Given the description of an element on the screen output the (x, y) to click on. 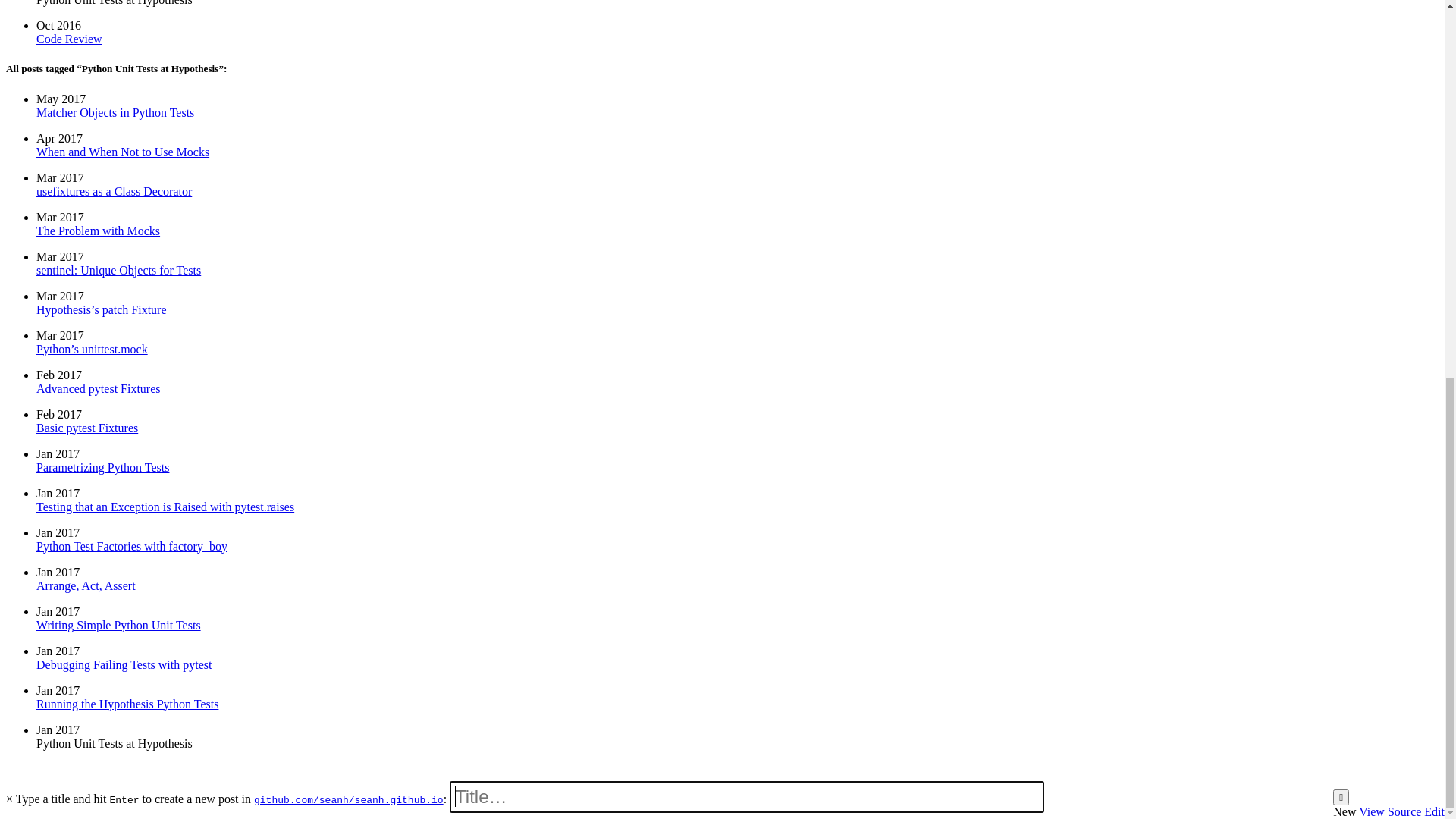
usefixtures as a Class Decorator Element type: text (113, 285)
Advanced pytest Fixtures Element type: text (98, 217)
The Problem with Mocks Element type: text (98, 272)
virtualenv Element type: text (658, 364)
Python Test Factories with factory_boy Element type: text (131, 162)
Python Element type: text (523, 364)
PDF Fingerprinting Element type: text (83, 660)
Writing Simple Python Unit Tests Element type: text (118, 135)
Hypothesis Element type: text (444, 82)
Code Review Element type: text (69, 739)
Basic pytest Fixtures Element type: text (87, 203)
Matcher Objects in Python Tests Element type: text (115, 313)
Debugging Failing Tests with pytest Element type: text (123, 122)
When and When Not to Use Mocks Element type: text (122, 299)
An Opinionated tox.ini File Element type: text (103, 581)
Testing that an Exception is Raised with pytest.raises Element type: text (165, 176)
Arrange, Act, Assert Element type: text (85, 149)
sentinel: Unique Objects for Tests Element type: text (118, 258)
Running the Hypothesis Python Tests Element type: text (127, 108)
Managing a Project's Virtualenvs with tox Element type: text (138, 621)
Sean Hammond Element type: text (45, 18)
Parametrizing Python Tests Element type: text (102, 190)
Python Web App Code Design at Hypothesis Element type: text (145, 542)
test method arguments that seem to come from nowhere Element type: text (976, 390)
